Given the description of an element on the screen output the (x, y) to click on. 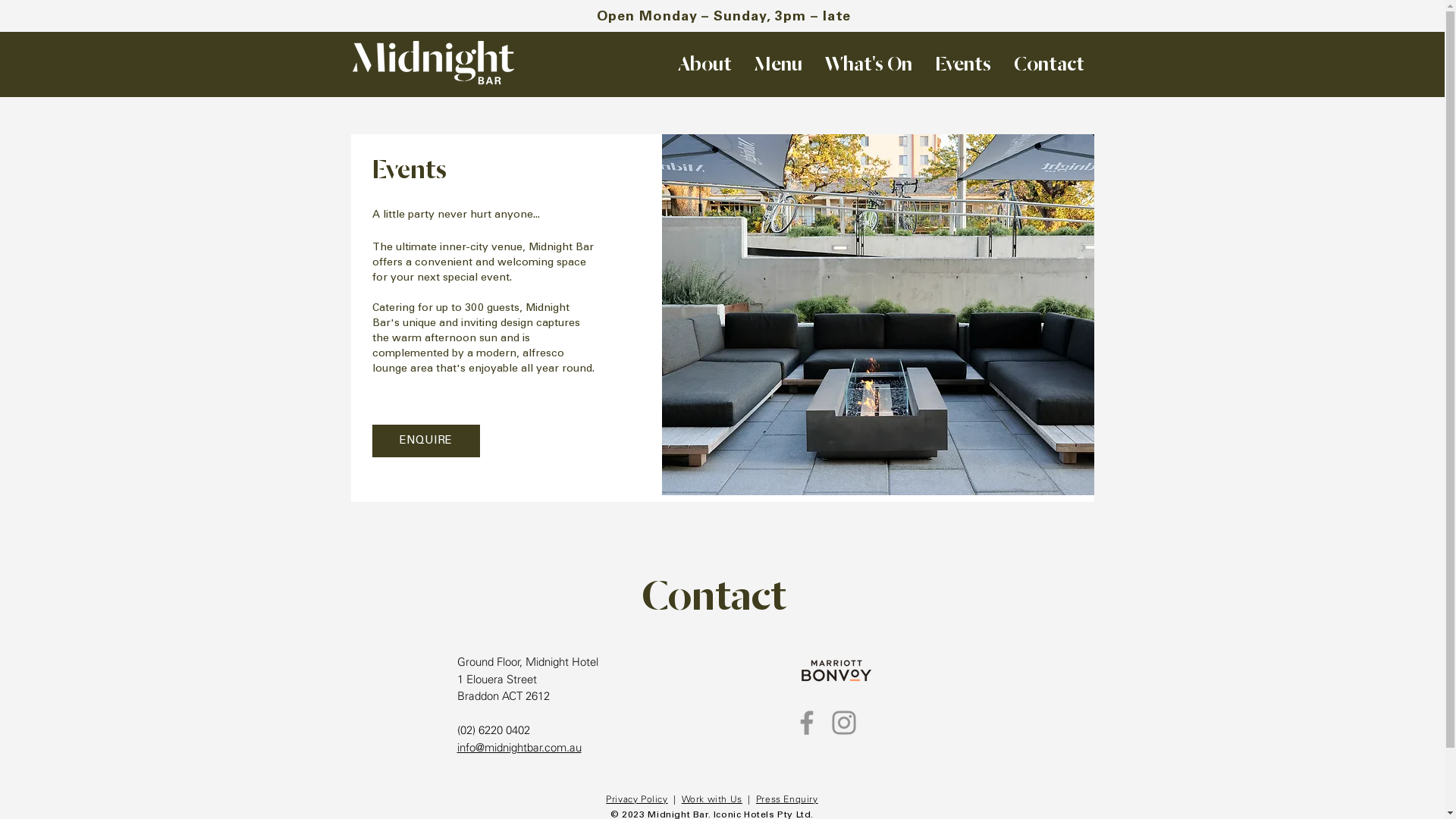
Press Enquiry Element type: text (787, 798)
About Element type: text (703, 63)
Work with Us Element type: text (711, 798)
ENQUIRE Element type: text (425, 440)
Contact Element type: text (1048, 63)
info@midnightbar.com.au Element type: text (518, 747)
Events Element type: text (962, 63)
What's On Element type: text (867, 63)
Menu Element type: text (778, 63)
Privacy Policy Element type: text (636, 798)
